Given the description of an element on the screen output the (x, y) to click on. 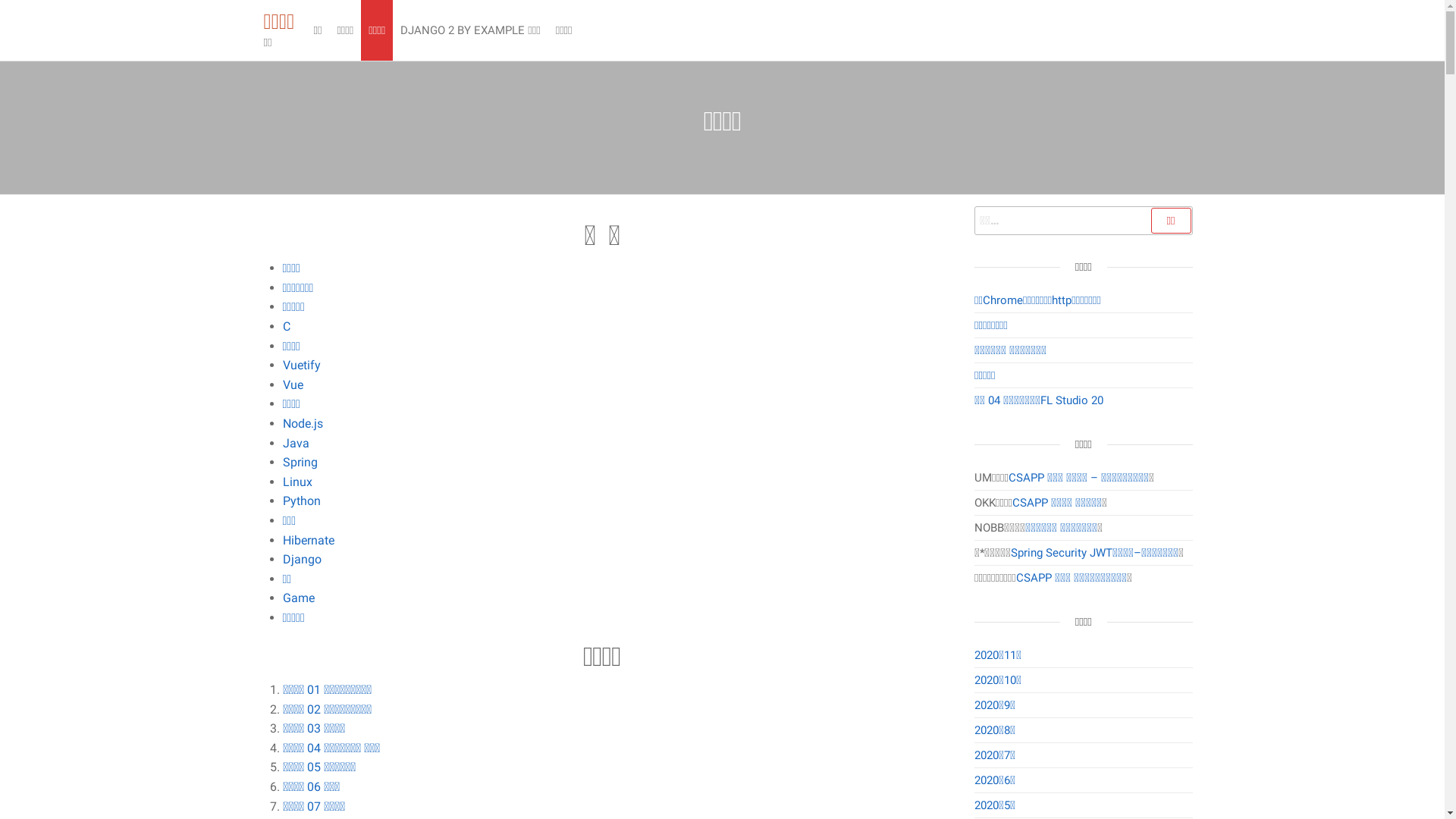
Vue Element type: text (292, 384)
Java Element type: text (295, 443)
Linux Element type: text (296, 481)
Vuetify Element type: text (301, 364)
Python Element type: text (301, 500)
Hibernate Element type: text (307, 539)
Spring Element type: text (299, 462)
C Element type: text (285, 326)
Node.js Element type: text (302, 423)
Game Element type: text (297, 597)
Django Element type: text (301, 559)
